Given the description of an element on the screen output the (x, y) to click on. 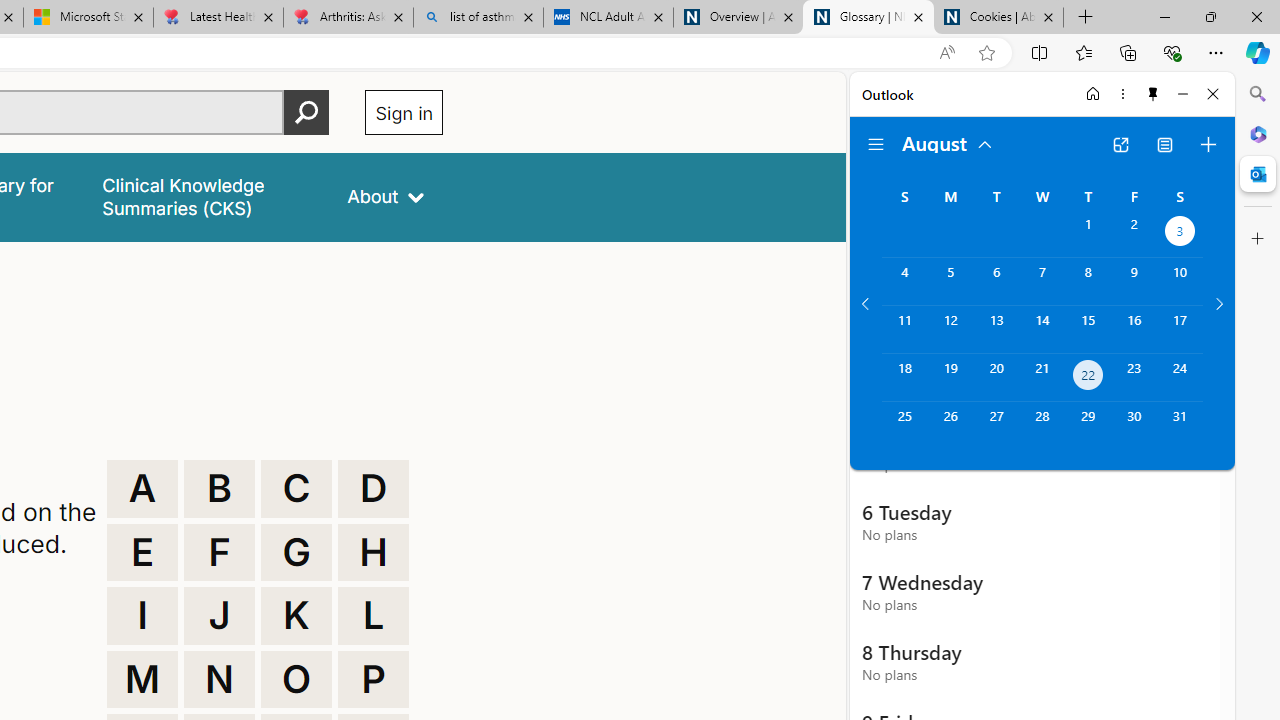
Sunday, August 18, 2024.  (904, 377)
Saturday, August 17, 2024.  (1180, 329)
